Given the description of an element on the screen output the (x, y) to click on. 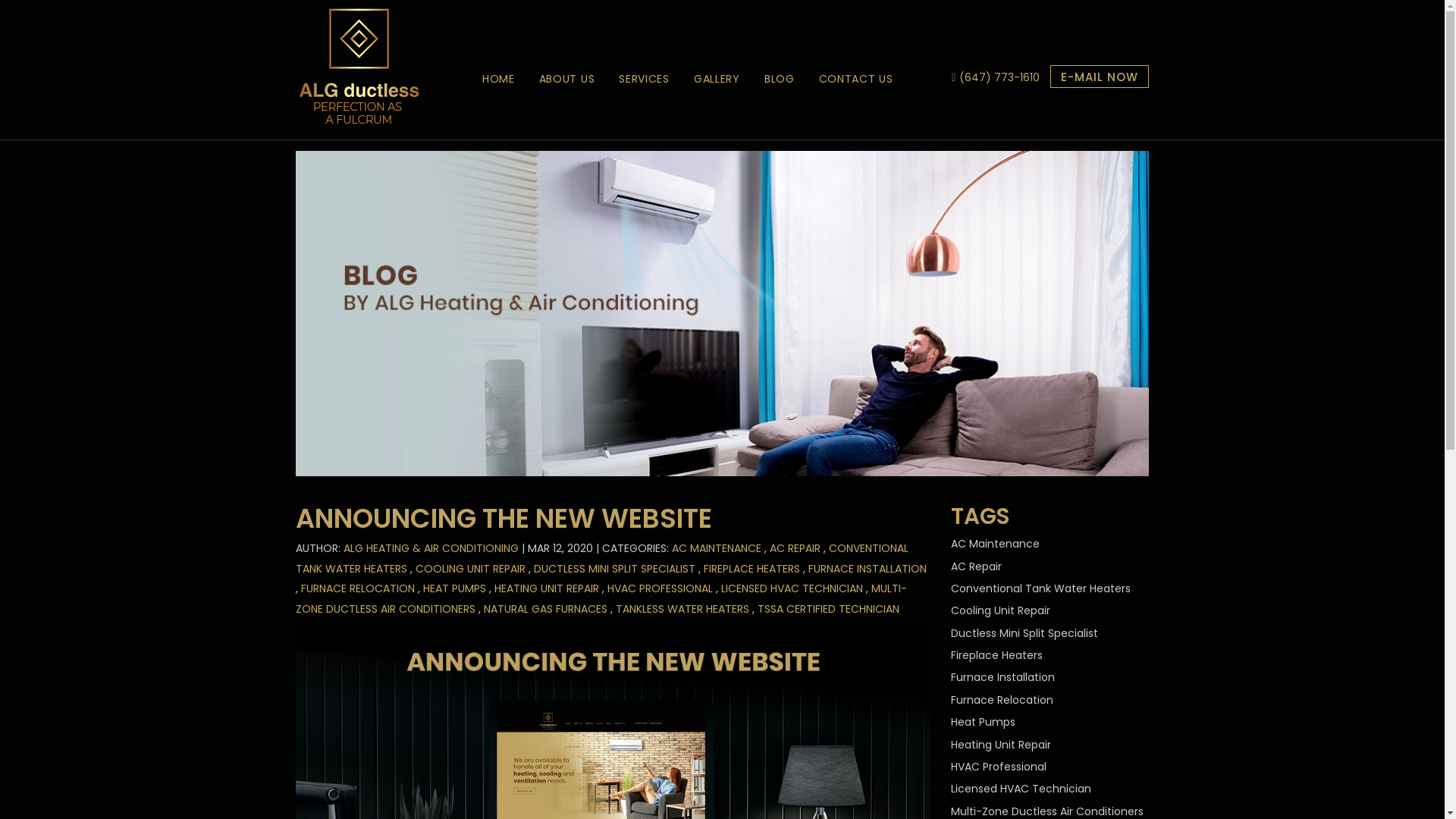
(647) 773-1610 Element type: text (999, 76)
AC MAINTENANCE Element type: text (716, 547)
E-MAIL NOW Element type: text (1099, 76)
Ductless Mini Split Specialist Element type: text (1024, 632)
Conventional Tank Water Heaters Element type: text (1040, 588)
Heat Pumps Element type: text (982, 721)
AC REPAIR Element type: text (794, 547)
HOME Element type: text (498, 78)
TANKLESS WATER HEATERS Element type: text (682, 608)
CONVENTIONAL TANK WATER HEATERS Element type: text (601, 558)
CONTACT US Element type: text (855, 78)
COOLING UNIT REPAIR Element type: text (470, 568)
NATURAL GAS FURNACES Element type: text (545, 608)
FURNACE INSTALLATION Element type: text (867, 568)
FURNACE RELOCATION Element type: text (357, 588)
MULTI-ZONE DUCTLESS AIR CONDITIONERS Element type: text (600, 598)
Cooling Unit Repair Element type: text (1000, 610)
AC Maintenance Element type: text (994, 543)
Furnace Relocation Element type: text (1001, 699)
HEAT PUMPS Element type: text (454, 588)
Heating Unit Repair Element type: text (1000, 744)
DUCTLESS MINI SPLIT SPECIALIST Element type: text (614, 568)
Fireplace Heaters Element type: text (996, 654)
LICENSED HVAC TECHNICIAN Element type: text (791, 588)
ANNOUNCING THE NEW WEBSITE Element type: text (503, 517)
TSSA CERTIFIED TECHNICIAN Element type: text (828, 608)
ABOUT US Element type: text (567, 78)
HVAC Professional Element type: text (998, 766)
FIREPLACE HEATERS Element type: text (751, 568)
HVAC PROFESSIONAL Element type: text (659, 588)
HEATING UNIT REPAIR Element type: text (546, 588)
GALLERY Element type: text (716, 78)
AC Repair Element type: text (975, 565)
BLOG Element type: text (779, 78)
Licensed HVAC Technician Element type: text (1020, 788)
Furnace Installation Element type: text (1002, 676)
SERVICES Element type: text (643, 78)
